Given the description of an element on the screen output the (x, y) to click on. 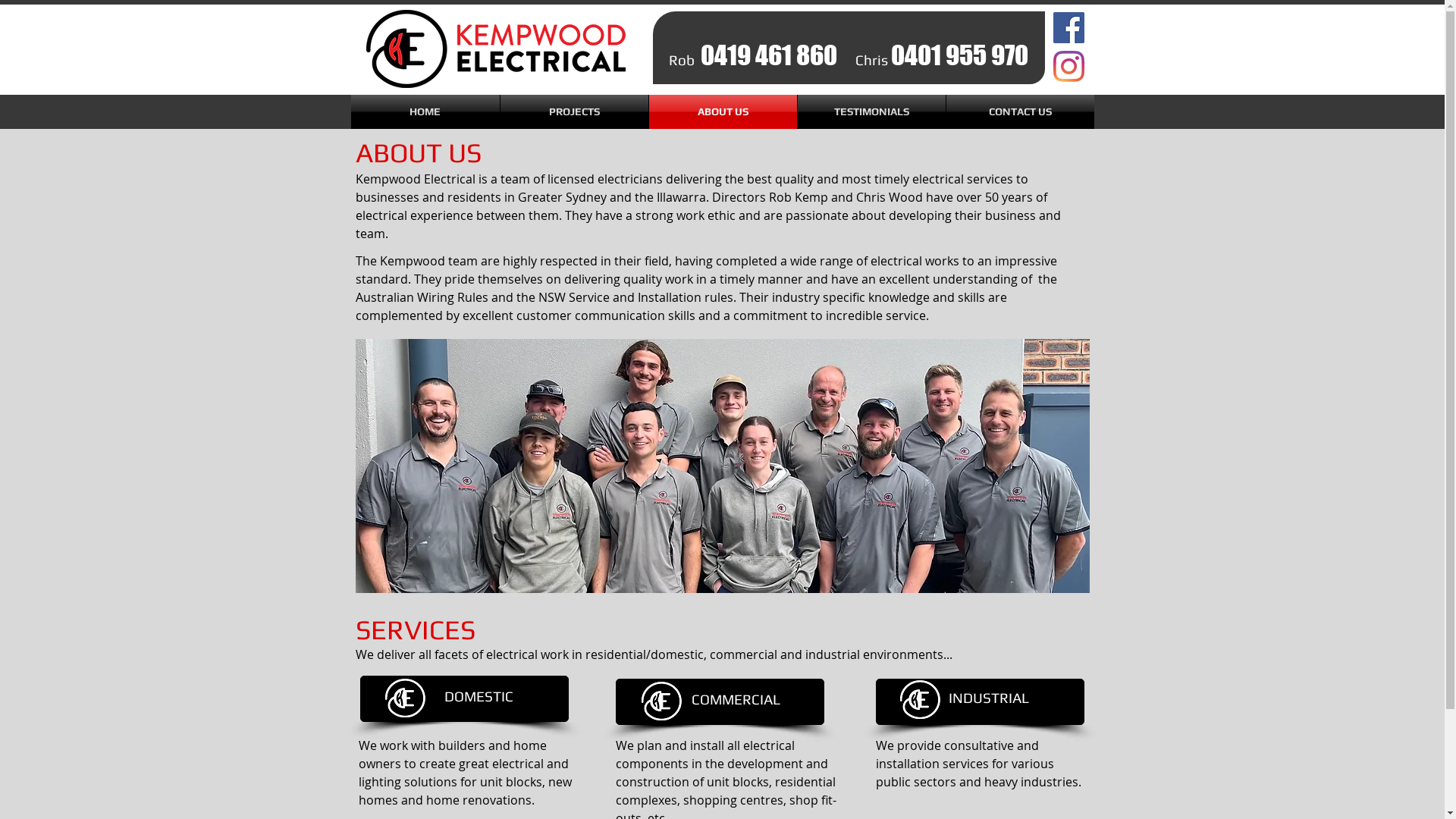
CONTACT US Element type: text (1020, 111)
PROJECTS Element type: text (574, 111)
ABOUT US Element type: text (723, 111)
HOME Element type: text (424, 111)
TESTIMONIALS Element type: text (871, 111)
